Given the description of an element on the screen output the (x, y) to click on. 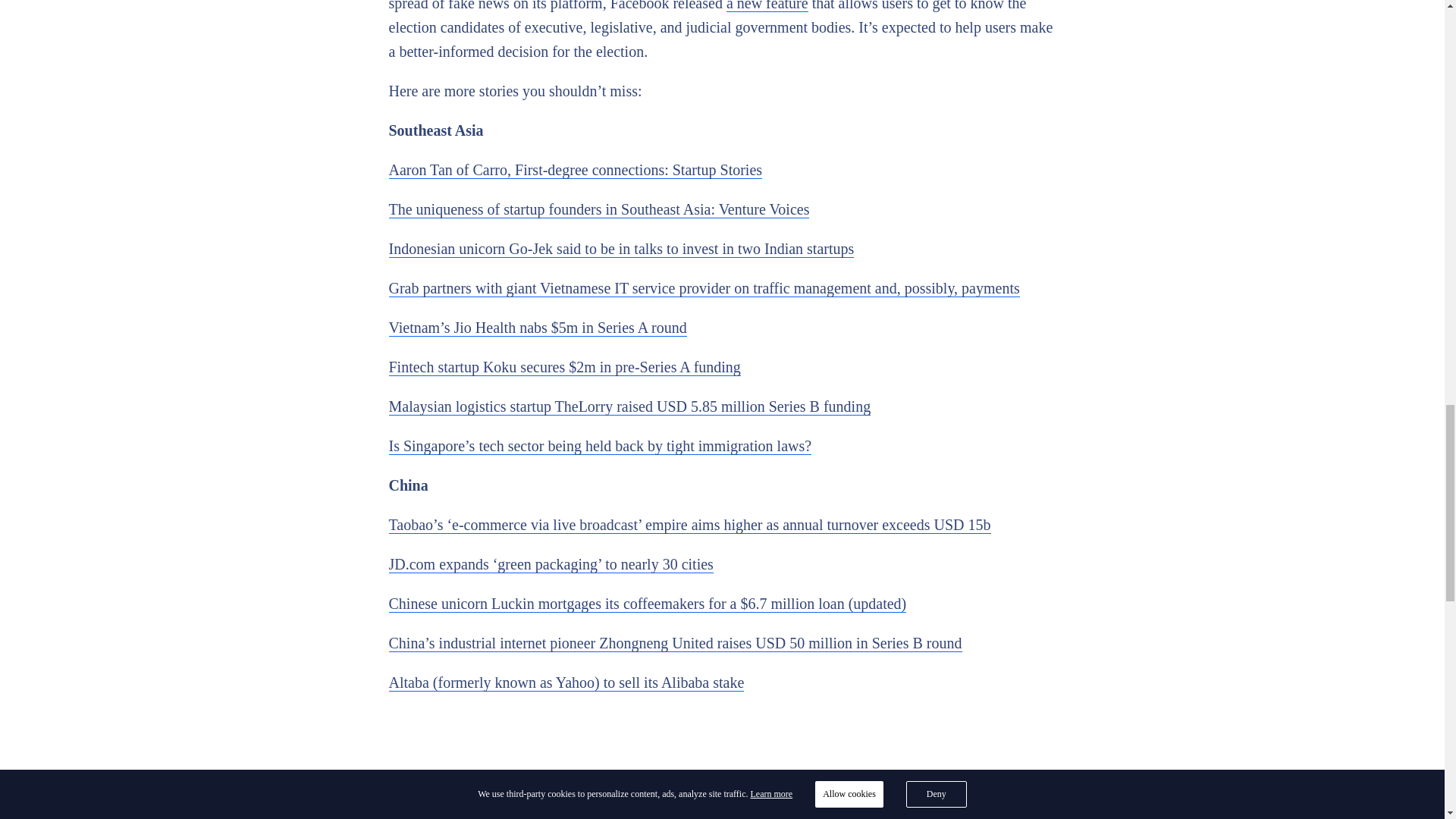
Go China (721, 803)
a new feature (767, 6)
